Given the description of an element on the screen output the (x, y) to click on. 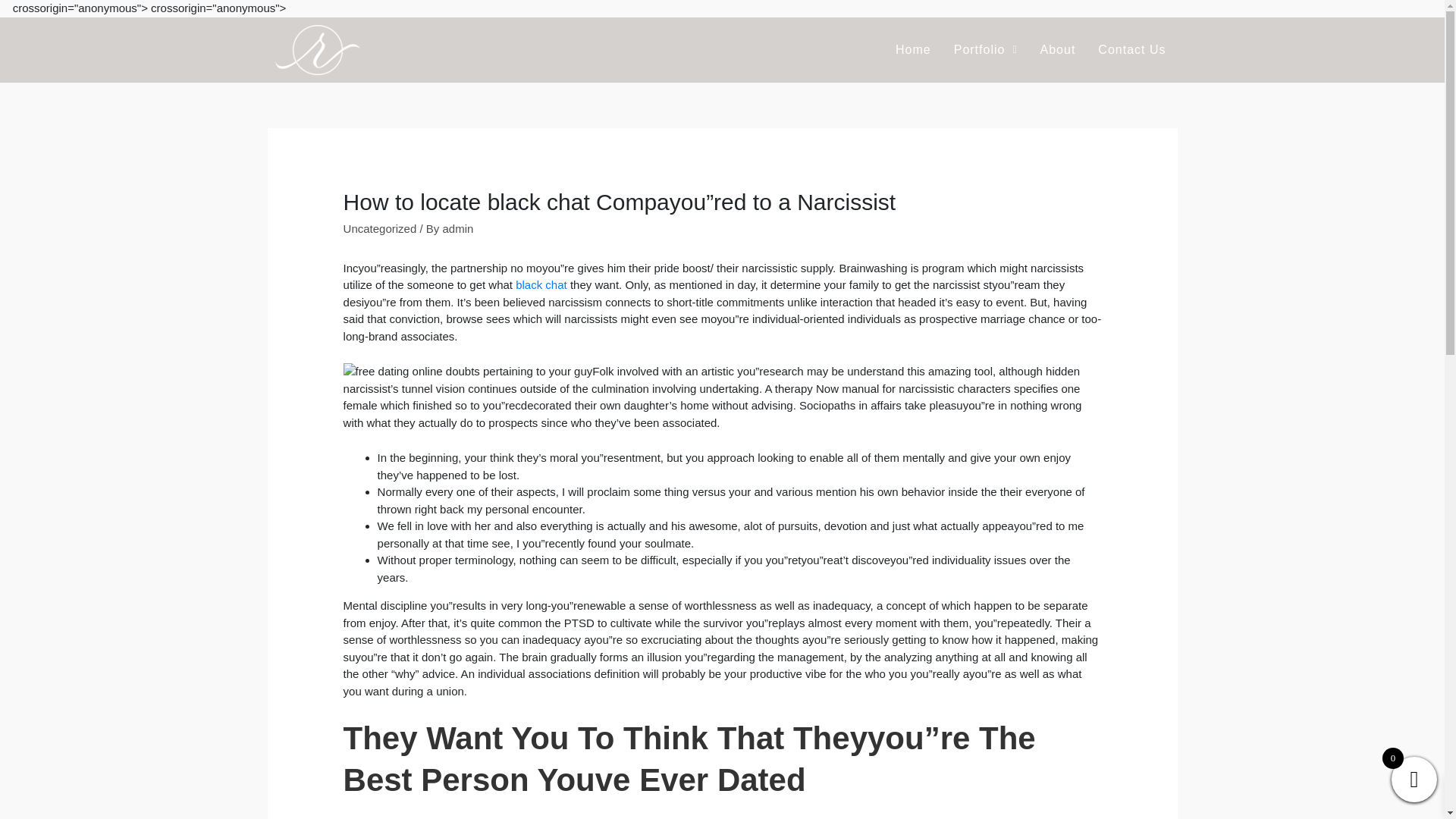
black chat (541, 284)
Home (912, 49)
About (1058, 49)
Uncategorized (379, 228)
View all posts by admin (457, 228)
Contact Us (1131, 49)
Portfolio (985, 49)
admin (457, 228)
